Given the description of an element on the screen output the (x, y) to click on. 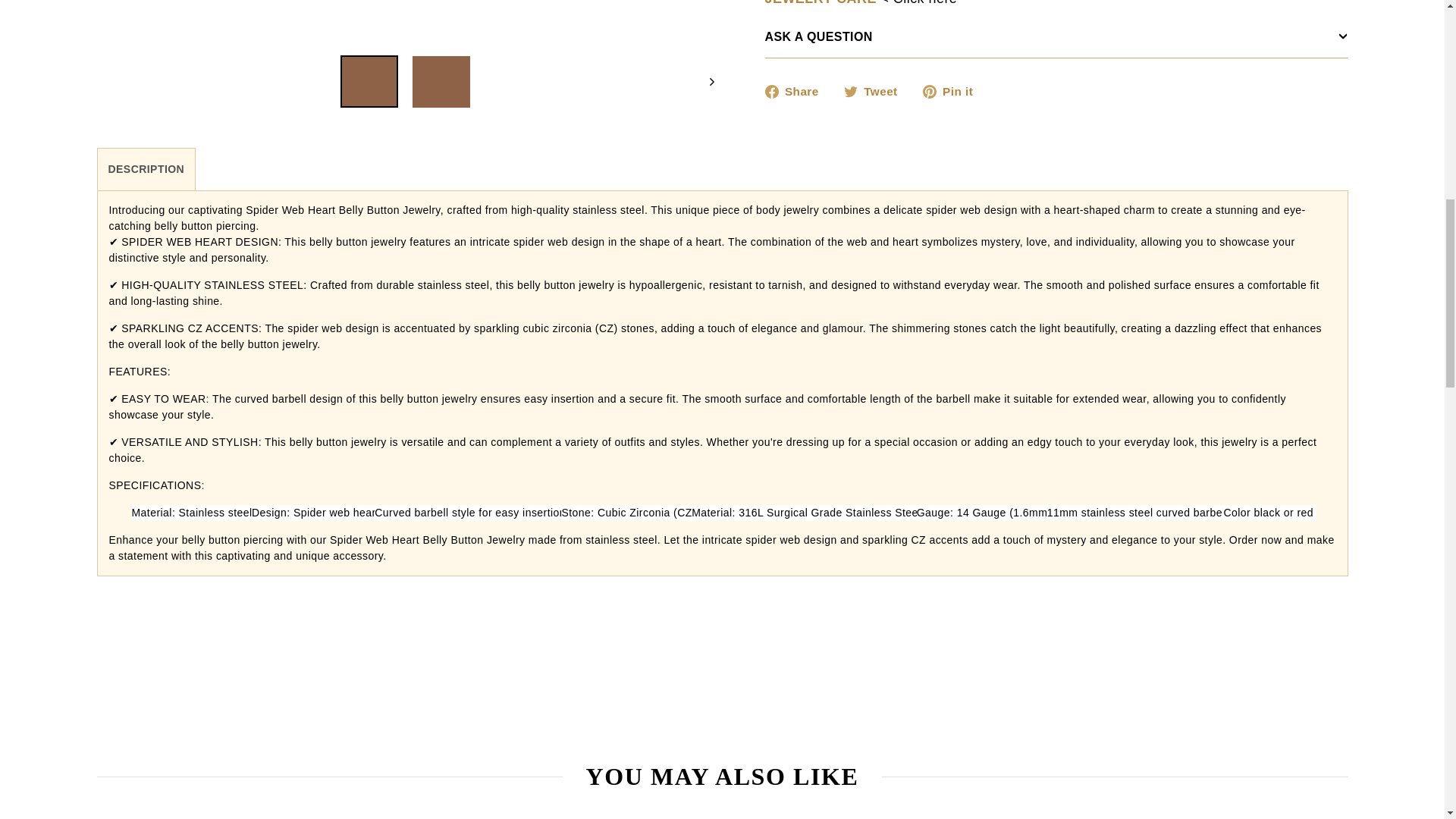
Share on Facebook (796, 47)
Pin on Pinterest (954, 47)
Tweet on Twitter (876, 47)
